Given the description of an element on the screen output the (x, y) to click on. 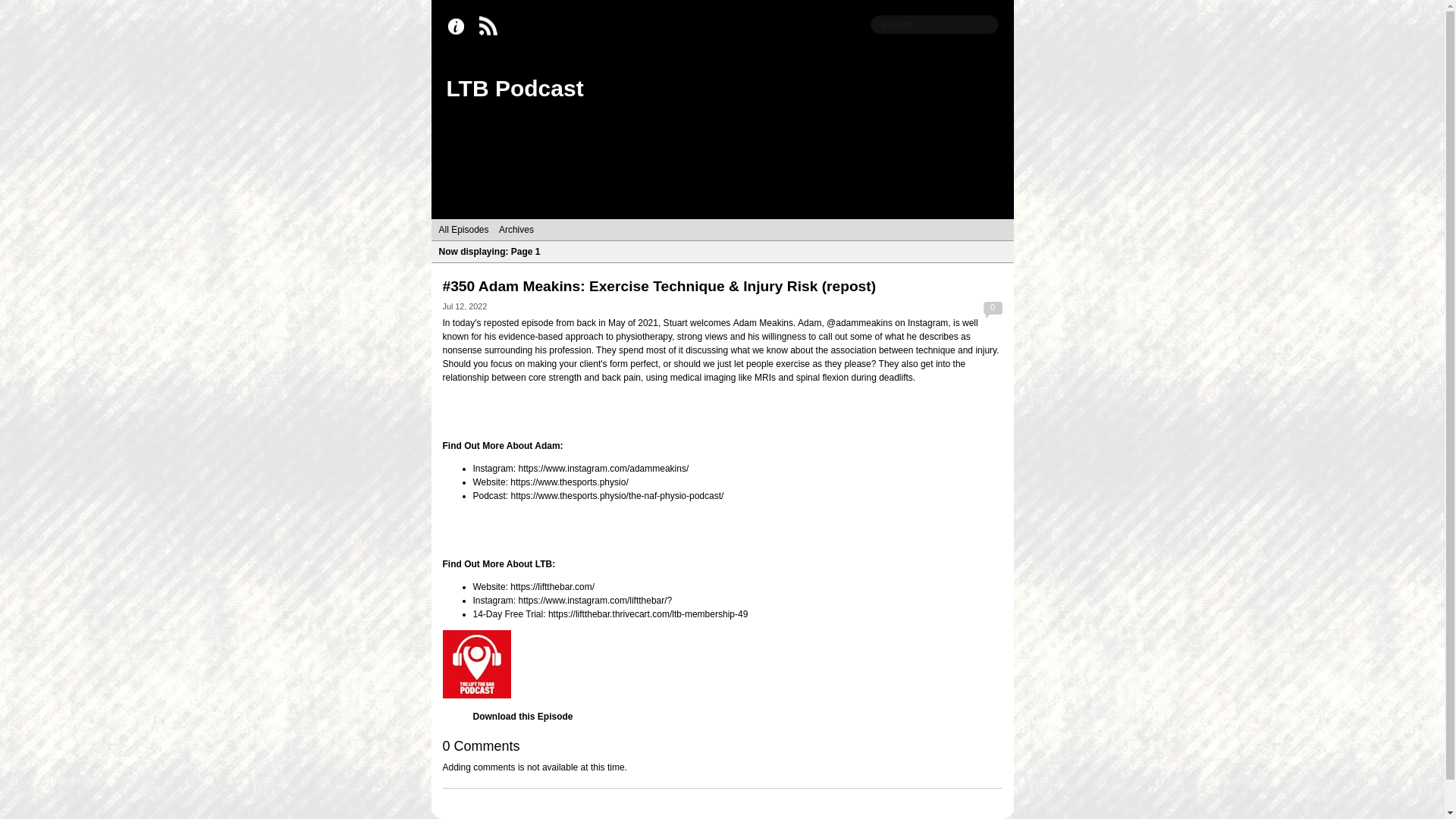
RSS Feed (491, 26)
LTB Podcast (514, 88)
Libsyn Player (722, 663)
